Given the description of an element on the screen output the (x, y) to click on. 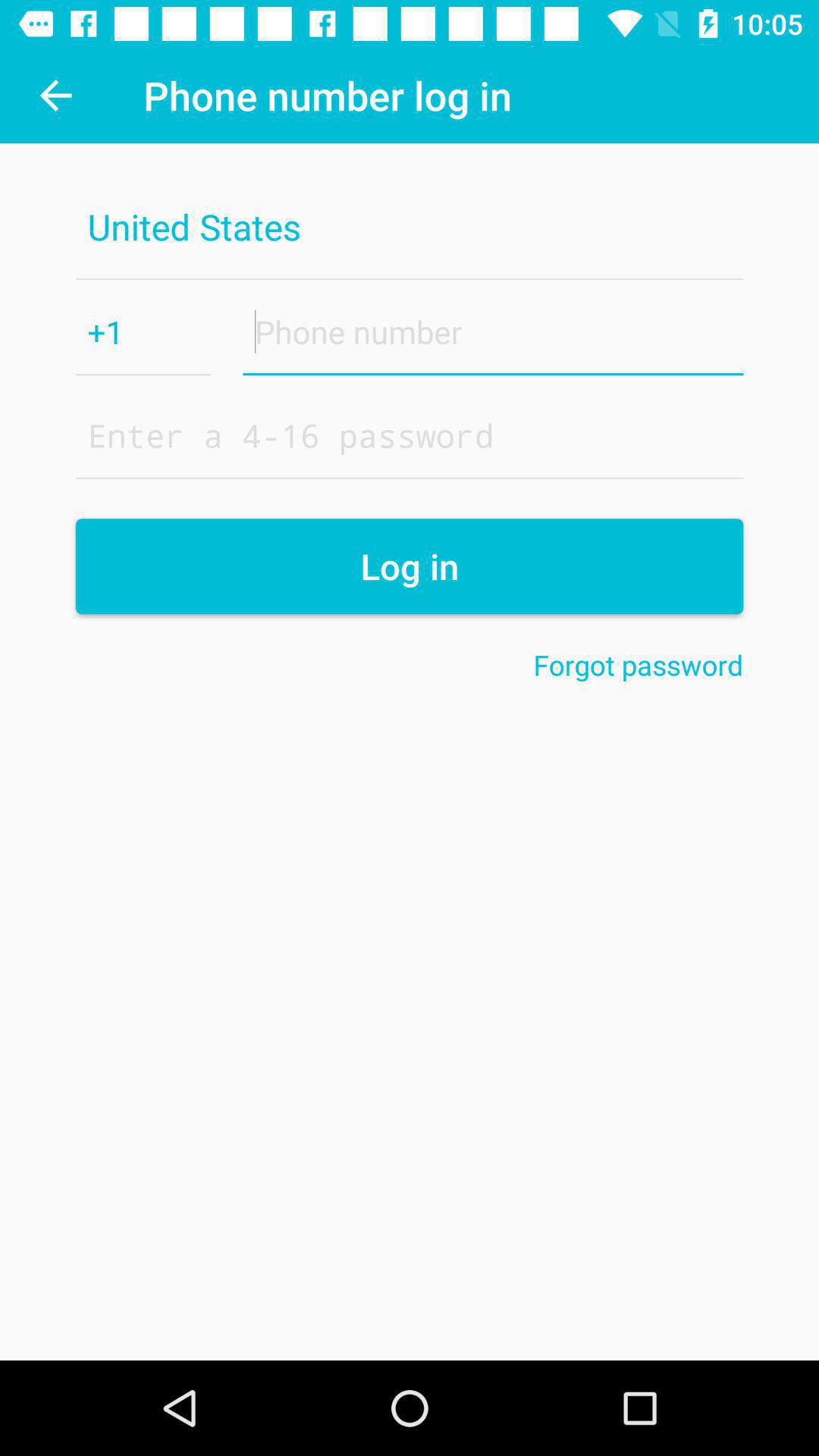
click the item to the right of the +1 icon (492, 331)
